Given the description of an element on the screen output the (x, y) to click on. 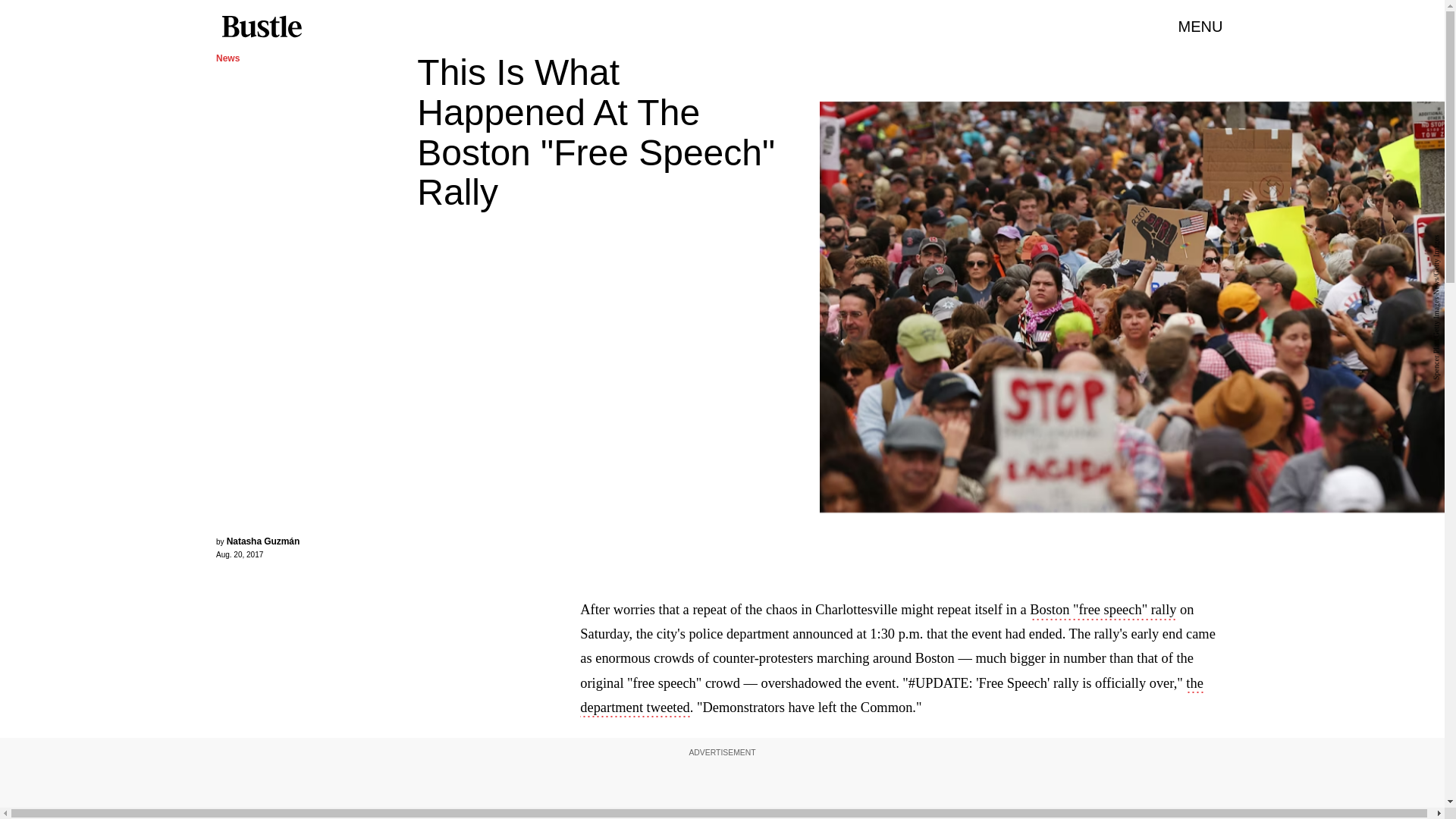
Bustle (261, 26)
the department tweeted (891, 696)
Boston "free speech" rally (1102, 610)
